Given the description of an element on the screen output the (x, y) to click on. 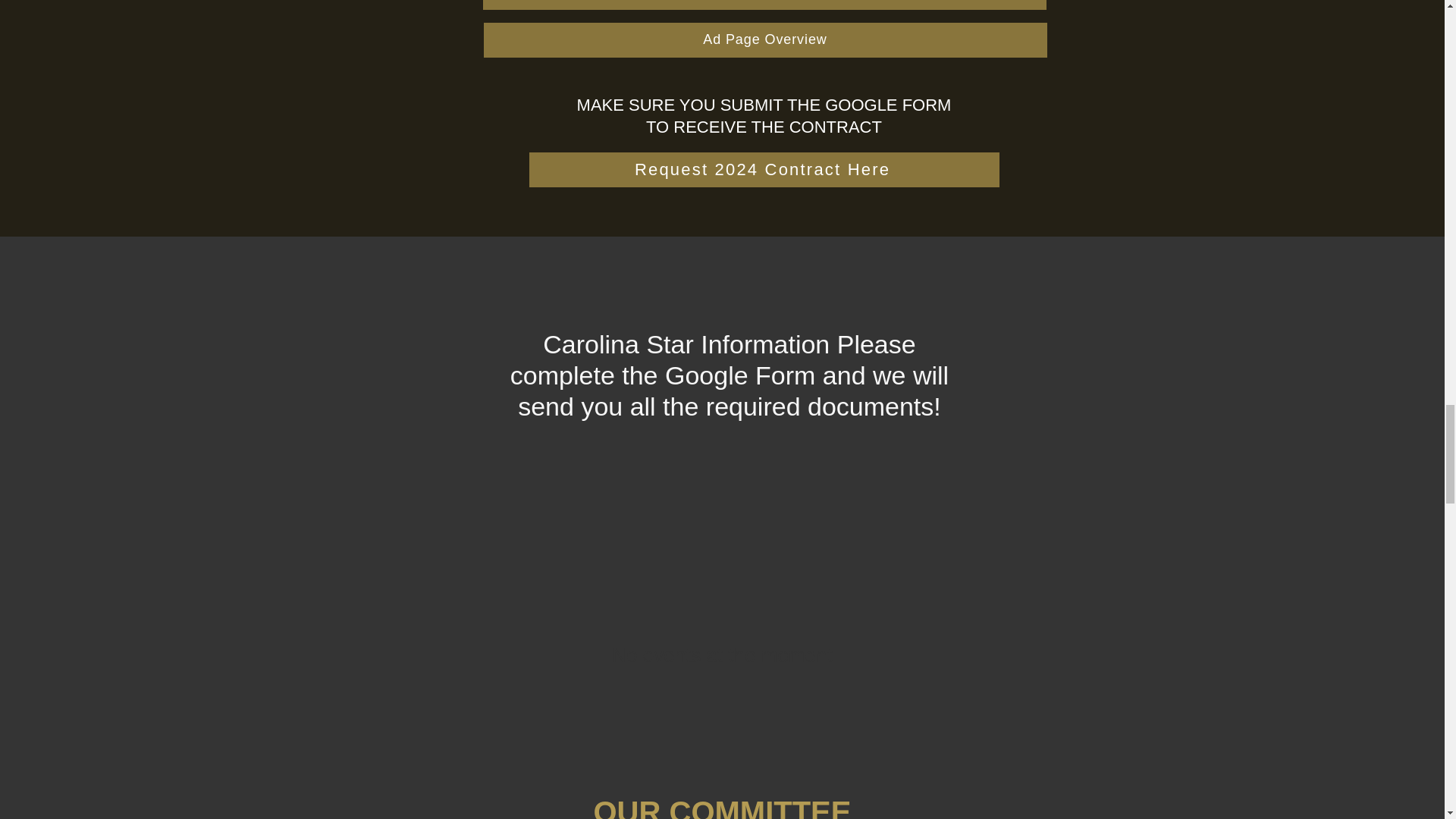
Silent Basket Instructions (763, 4)
Request 2024 Contract Here (763, 169)
Ad Page Overview (764, 39)
